Given the description of an element on the screen output the (x, y) to click on. 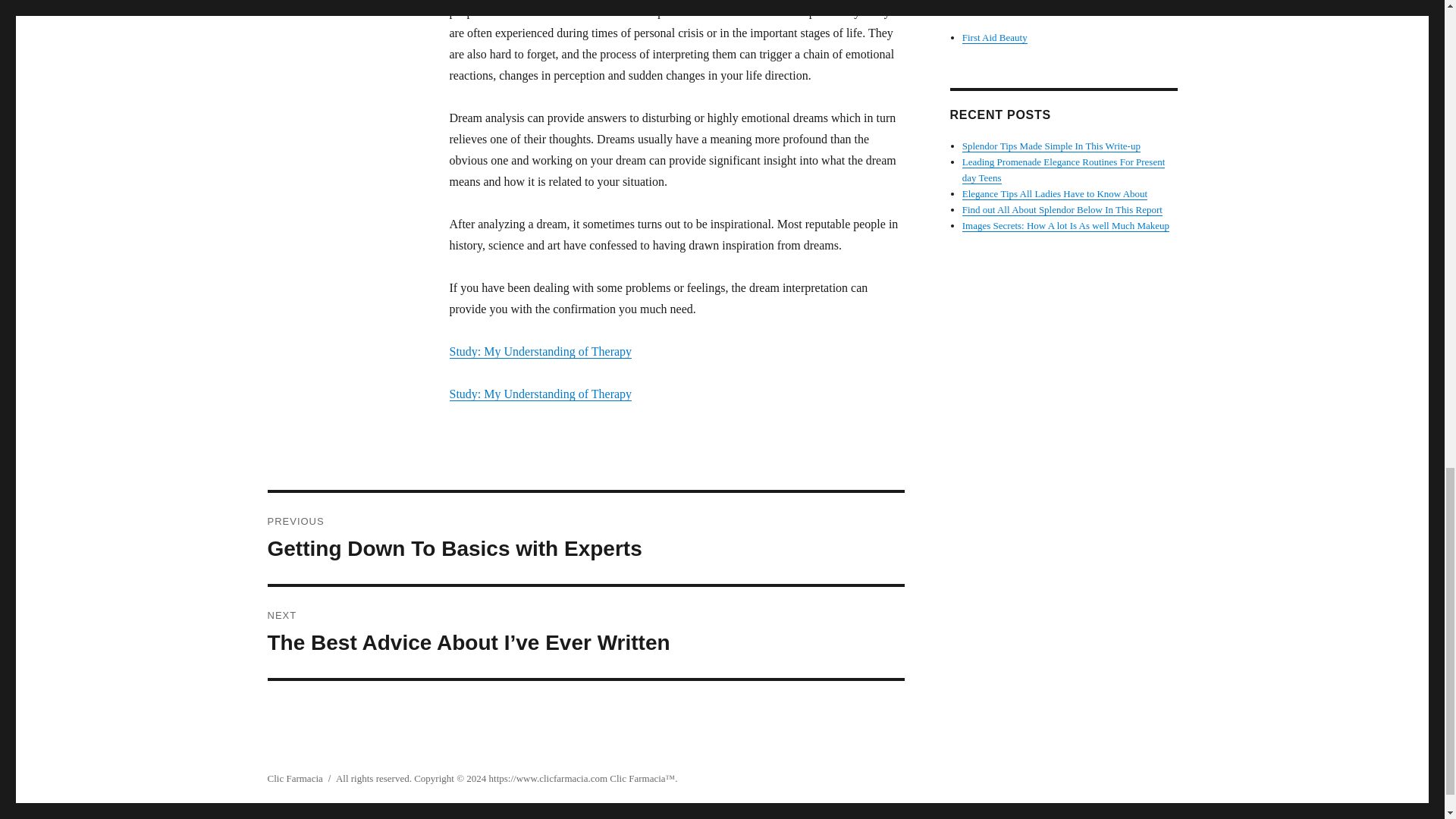
Find out All About Splendor Below In This Report (585, 538)
First Aid Beauty (1061, 209)
Clic Farmacia (994, 37)
Images Secrets: How A lot Is As well Much Makeup (293, 778)
Elegance Tips All Ladies Have to Know About (1065, 225)
Study: My Understanding of Therapy (1054, 193)
Splendor Tips Made Simple In This Write-up (539, 393)
Clic Farmacia (1051, 145)
Study: My Understanding of Therapy (637, 778)
Leading Promenade Elegance Routines For Present day Teens (539, 350)
